Given the description of an element on the screen output the (x, y) to click on. 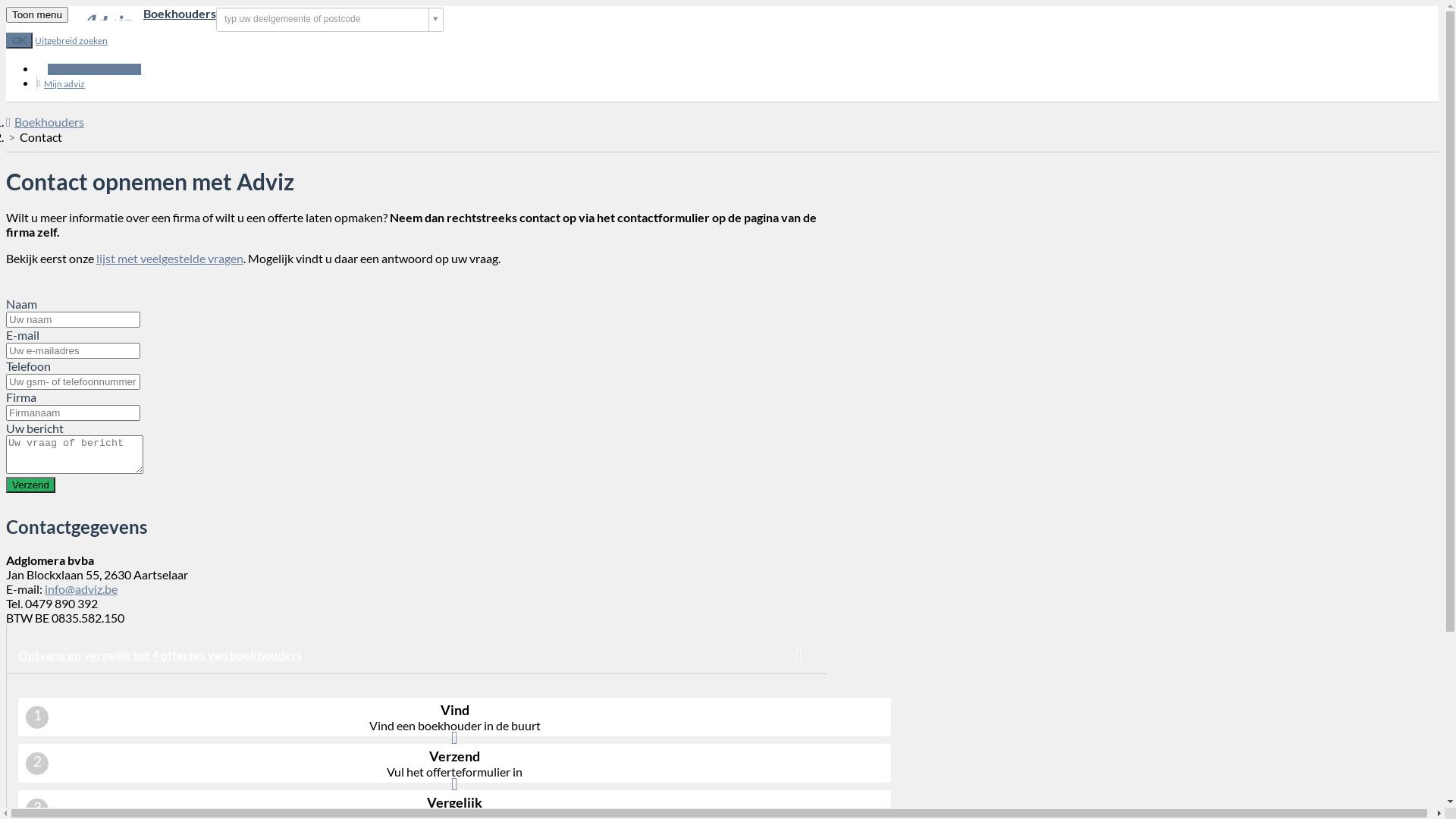
Verzend Element type: text (30, 484)
Boekhouders Element type: text (143, 13)
lijst met veelgestelde vragen Element type: text (169, 258)
Mijn adviz Element type: text (60, 83)
Boekhouders Element type: text (45, 121)
Toon menu Element type: text (37, 14)
Uw bedrijf publiceren Element type: text (94, 69)
Uitgebreid zoeken Element type: text (70, 40)
info@adviz.be Element type: text (80, 588)
OK Element type: text (19, 40)
typ uw deelgemeente of postcode Element type: text (329, 19)
Ontvang en vergelijk tot 4 offertes van boekhouders Element type: text (416, 654)
